Given the description of an element on the screen output the (x, y) to click on. 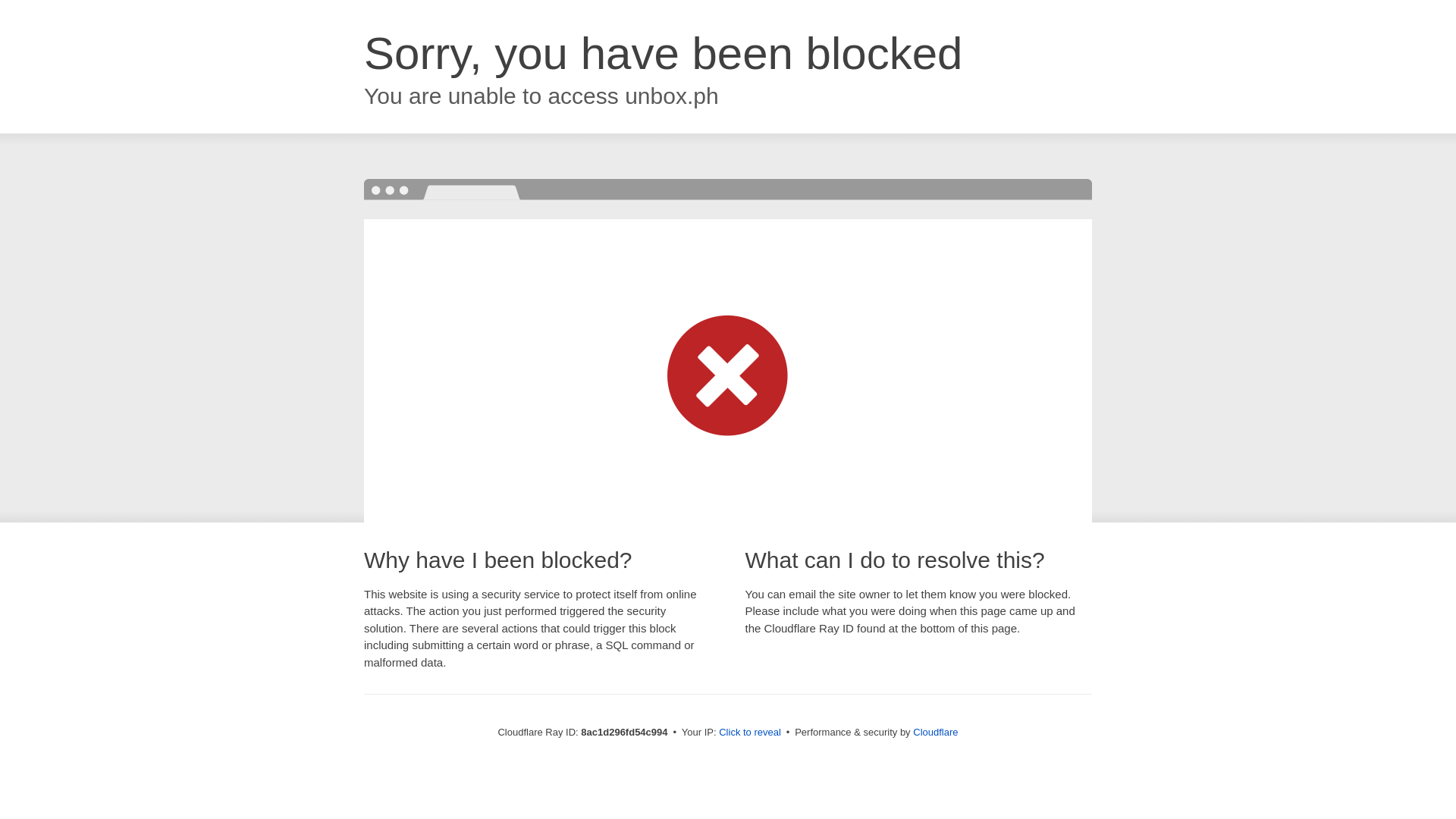
Cloudflare (935, 731)
Click to reveal (749, 732)
